Given the description of an element on the screen output the (x, y) to click on. 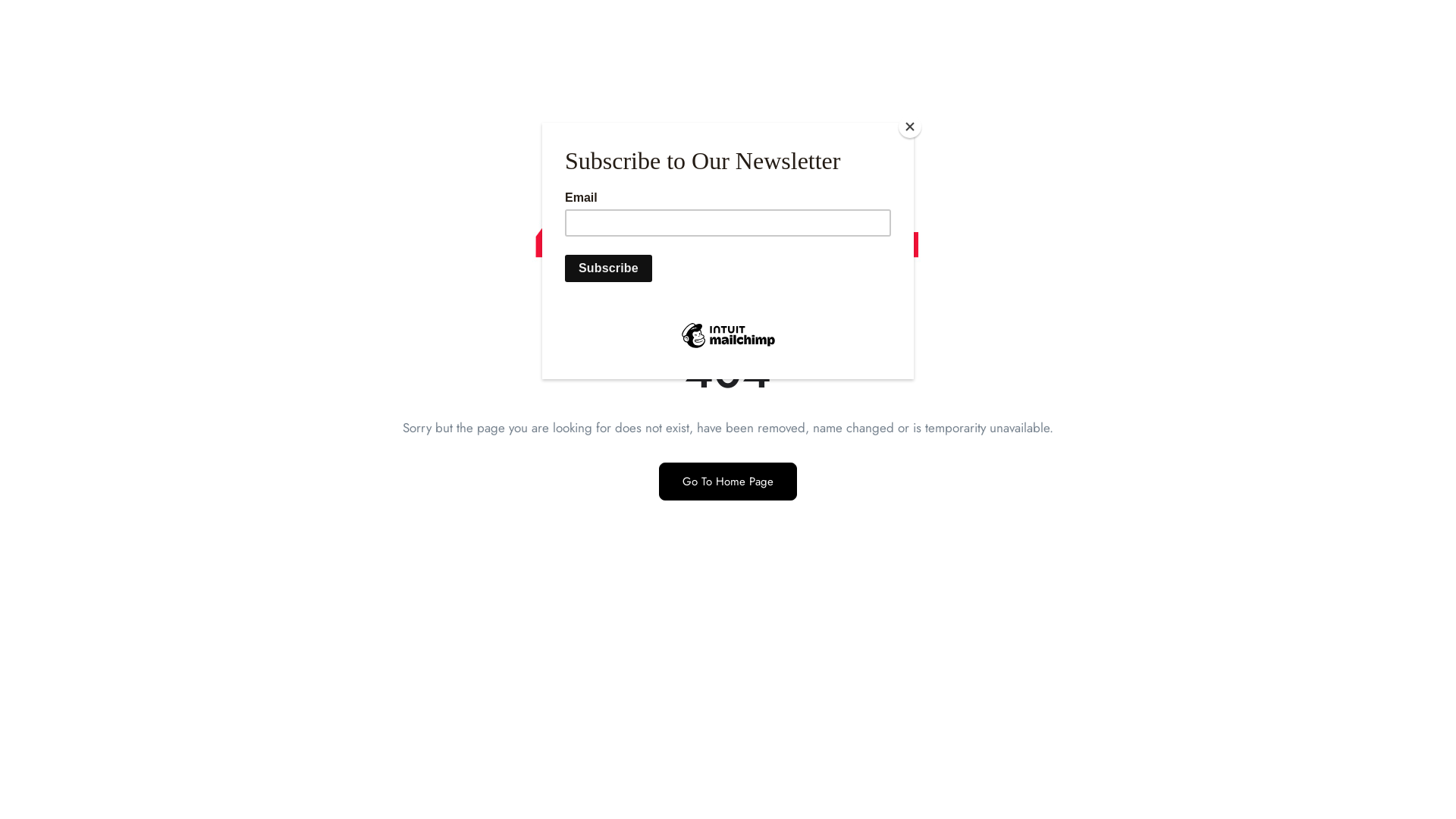
Go To Home Page Element type: text (727, 481)
